Given the description of an element on the screen output the (x, y) to click on. 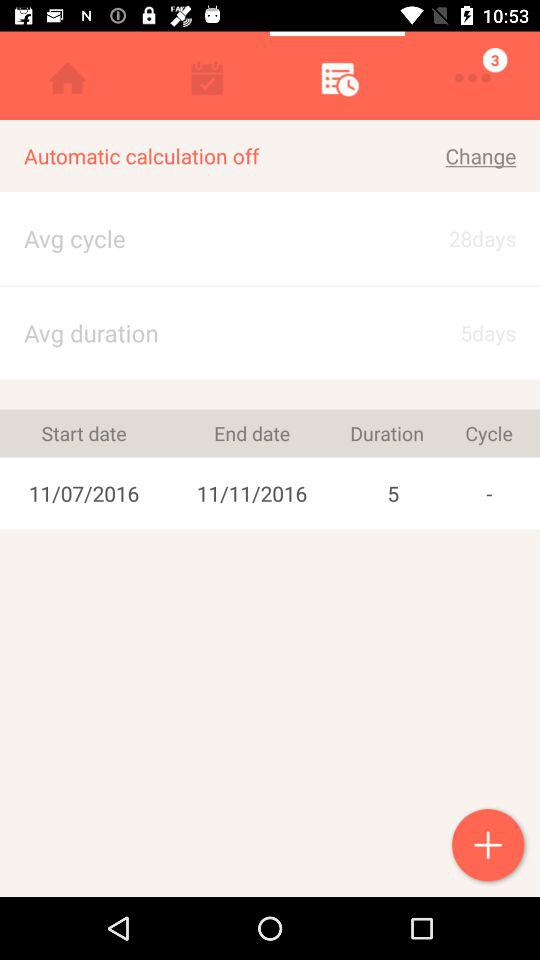
tap the app to the left of cycle app (393, 493)
